Given the description of an element on the screen output the (x, y) to click on. 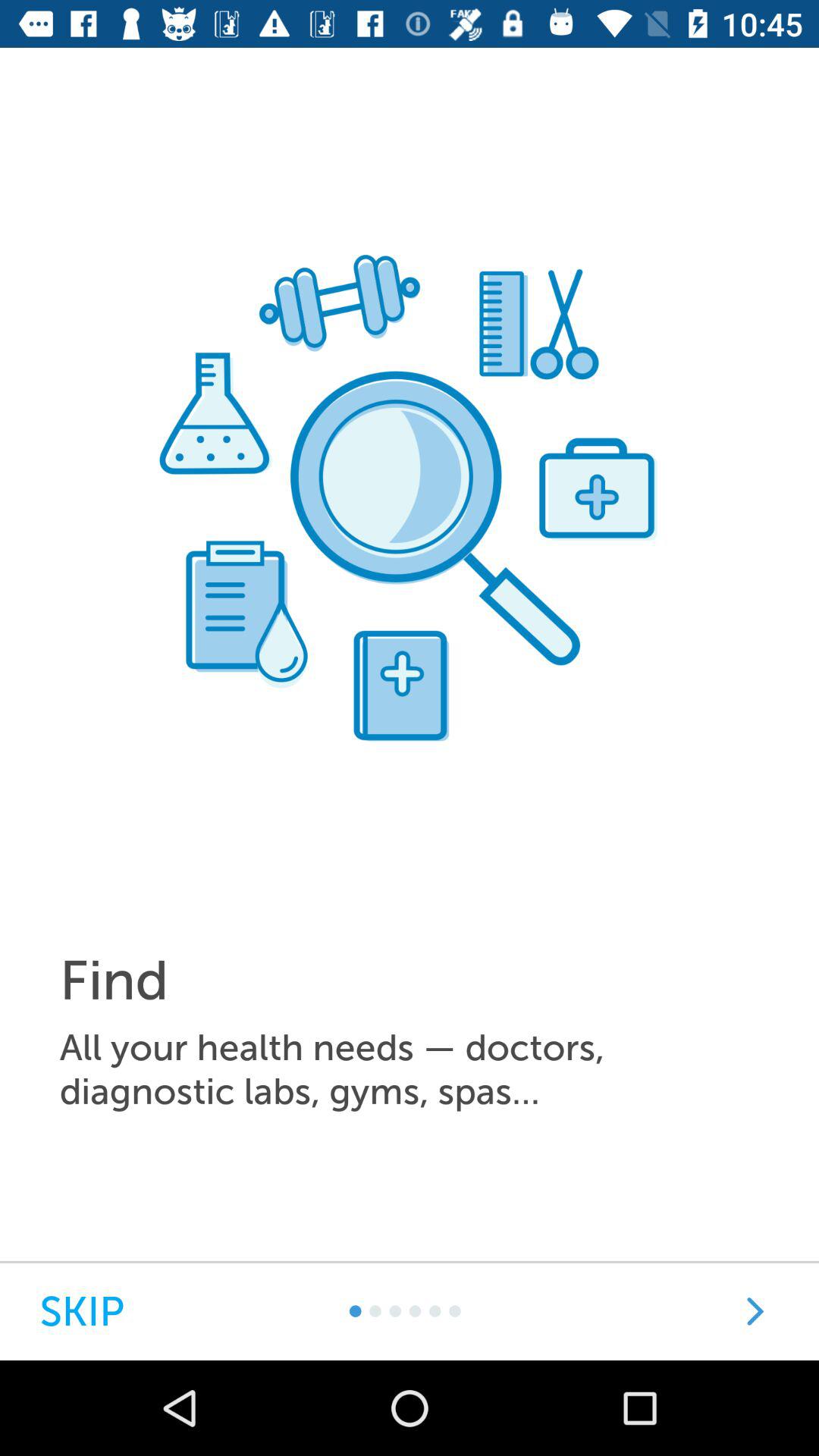
go to next page (755, 1311)
